Given the description of an element on the screen output the (x, y) to click on. 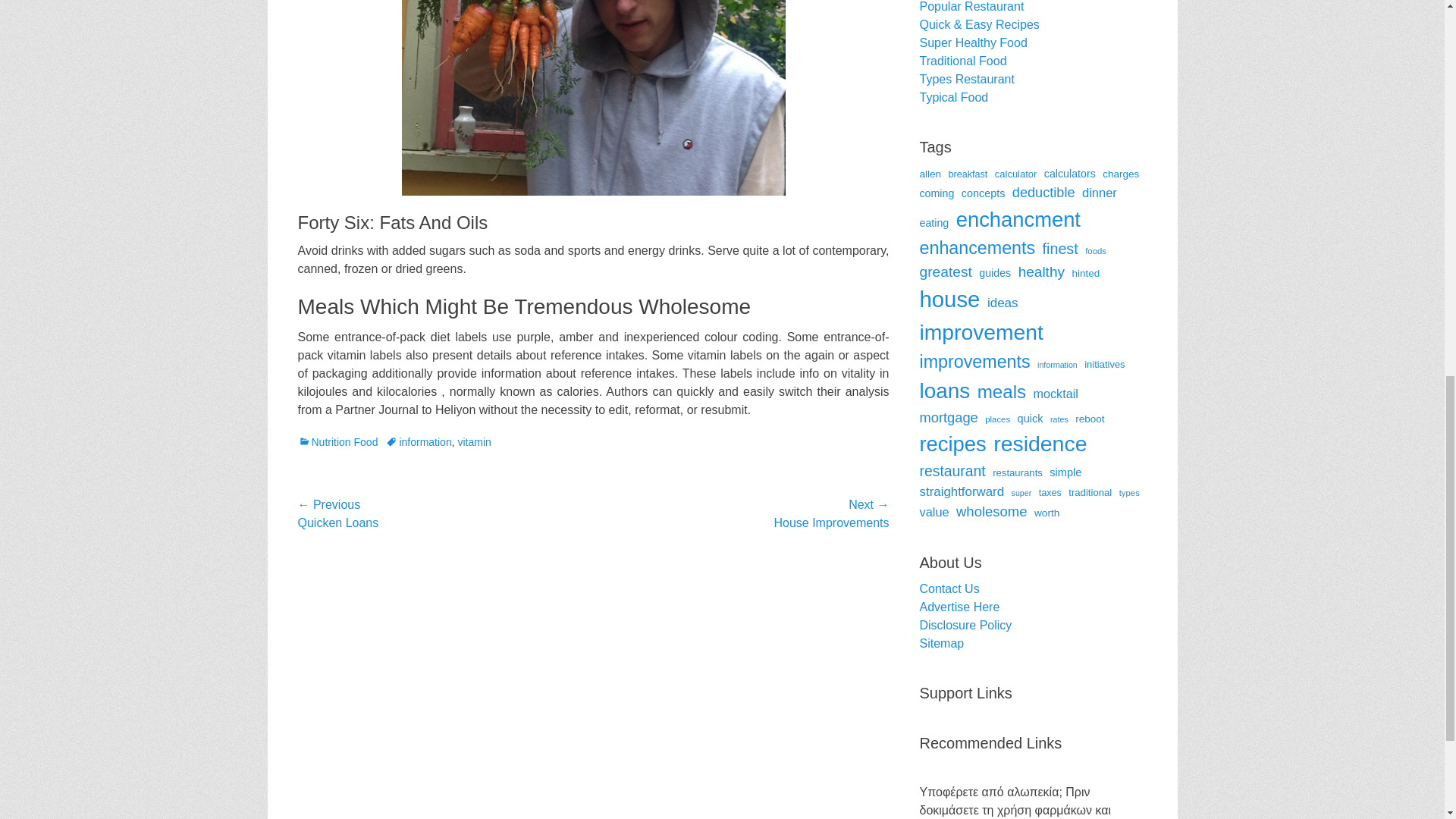
vitamin (473, 441)
information (418, 441)
Nutrition Food (337, 441)
